Given the description of an element on the screen output the (x, y) to click on. 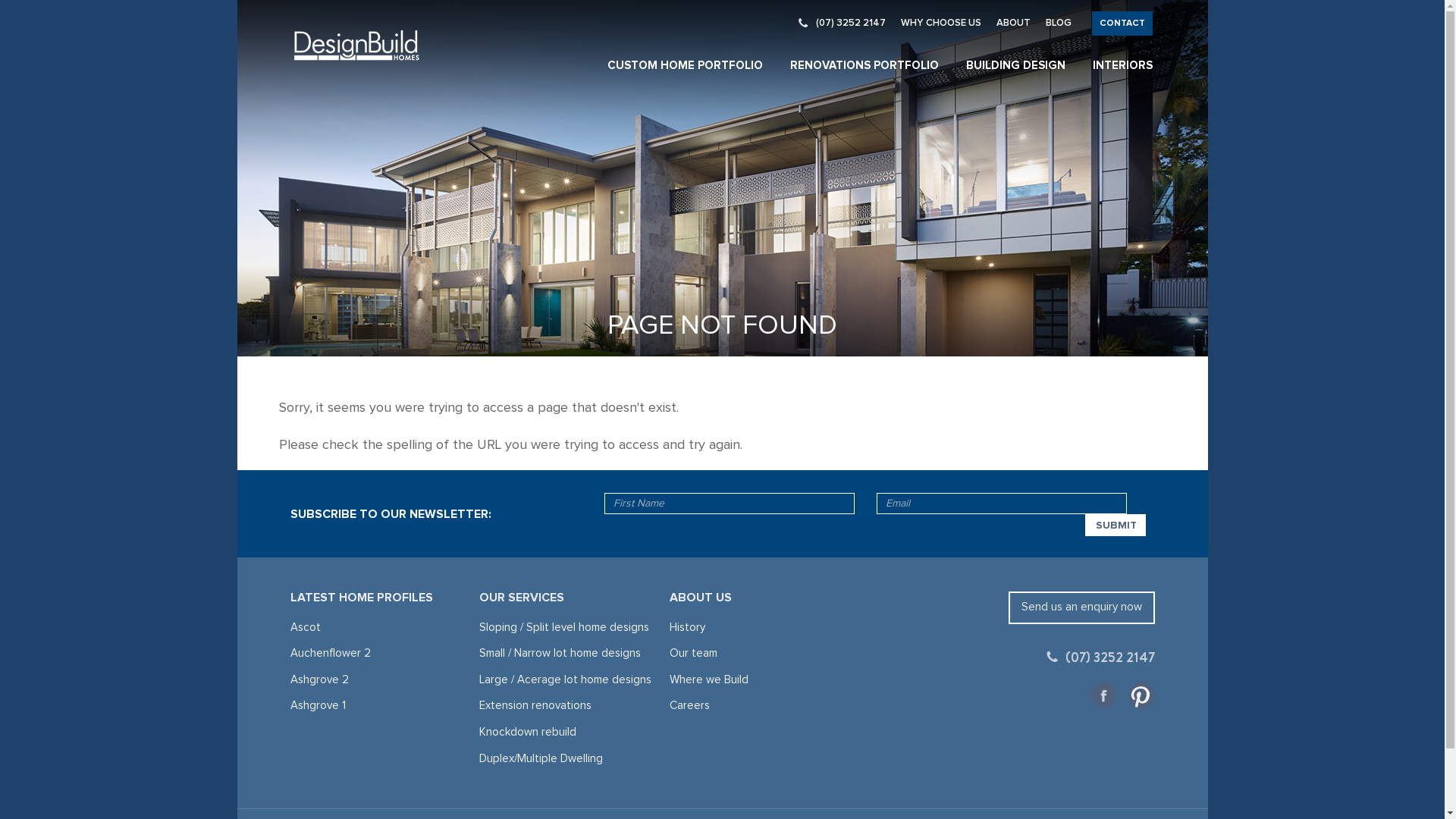
RENOVATIONS PORTFOLIO Element type: text (864, 64)
CUSTOM HOME PORTFOLIO Element type: text (684, 64)
Careers Element type: text (689, 705)
History Element type: text (687, 627)
INTERIORS Element type: text (1121, 64)
Extension renovations Element type: text (535, 705)
Where we Build Element type: text (708, 679)
Ashgrove 2 Element type: text (318, 679)
WHY CHOOSE US Element type: text (940, 23)
BLOG Element type: text (1057, 23)
Our team Element type: text (693, 652)
(07) 3252 2147 Element type: text (1100, 657)
Duplex/Multiple Dwelling Element type: text (540, 758)
Send us an enquiry now Element type: text (1081, 607)
SUBMIT Element type: text (1115, 524)
Small / Narrow lot home designs Element type: text (559, 652)
Large / Acerage lot home designs Element type: text (565, 679)
BUILDING DESIGN Element type: text (1015, 64)
ABOUT Element type: text (1013, 23)
Knockdown rebuild Element type: text (527, 731)
Ashgrove 1 Element type: text (317, 705)
CONTACT Element type: text (1122, 23)
Sloping / Split level home designs Element type: text (564, 627)
(07) 3252 2147 Element type: text (840, 23)
Auchenflower 2 Element type: text (329, 652)
Ascot Element type: text (304, 627)
